Given the description of an element on the screen output the (x, y) to click on. 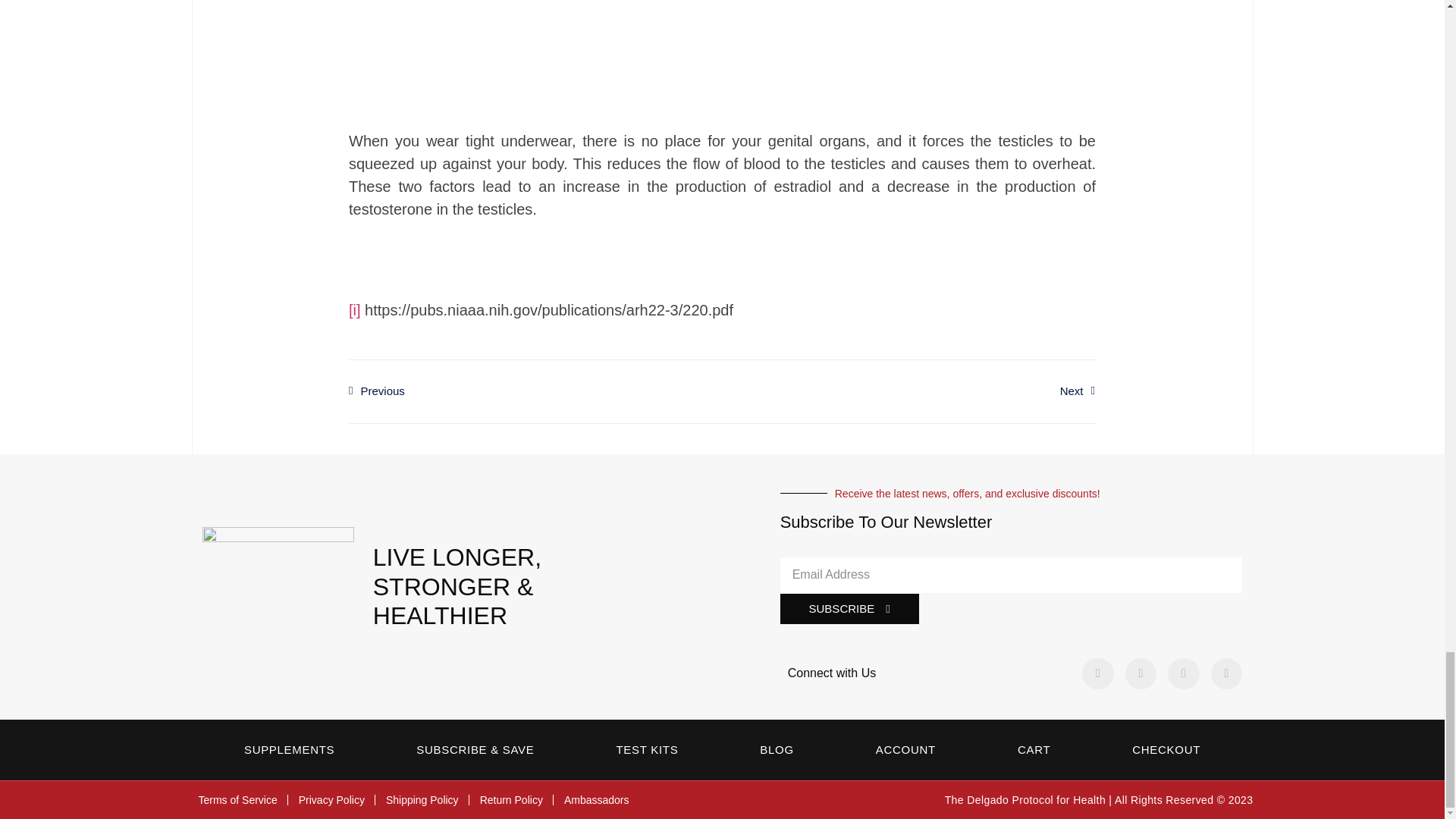
BLOG (776, 749)
SUPPLEMENTS (289, 749)
Previous (535, 391)
CHECKOUT (1166, 749)
CART (1033, 749)
Next (908, 391)
TEST KITS (646, 749)
ACCOUNT (905, 749)
SUBSCRIBE (849, 608)
